Given the description of an element on the screen output the (x, y) to click on. 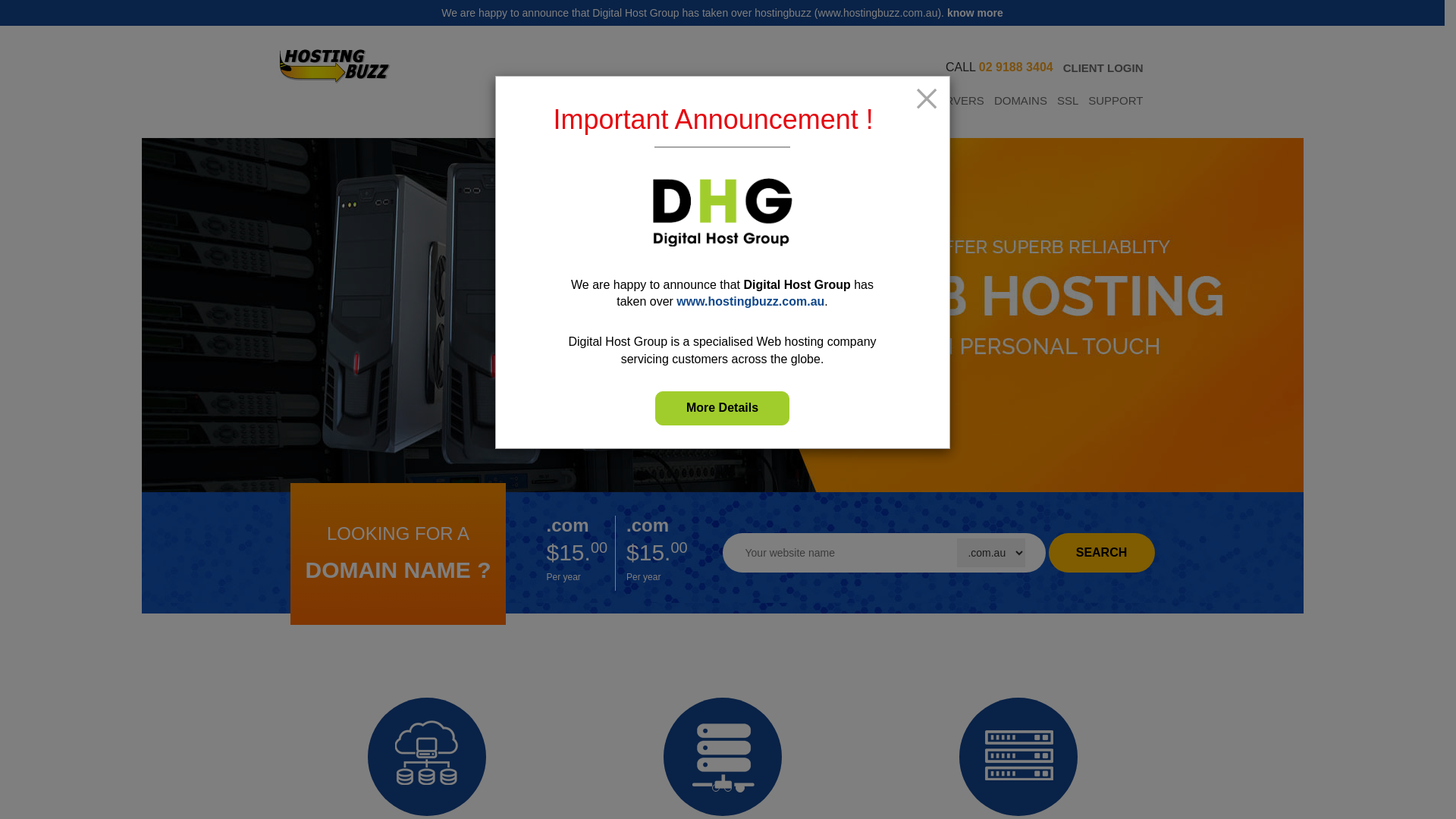
know more Element type: text (975, 12)
www.hostingbuzz.com.au Element type: text (750, 300)
WEB HOSTING Element type: text (696, 100)
SSL Element type: text (1067, 100)
DOMAINS Element type: text (1020, 100)
VIRTUAL SERVERS Element type: text (799, 100)
DEDICATED SERVERS Element type: text (923, 100)
search Element type: text (1101, 552)
SUPPORT Element type: text (1115, 100)
More Details Element type: text (722, 408)
CLIENT LOGIN Element type: text (1103, 68)
